Given the description of an element on the screen output the (x, y) to click on. 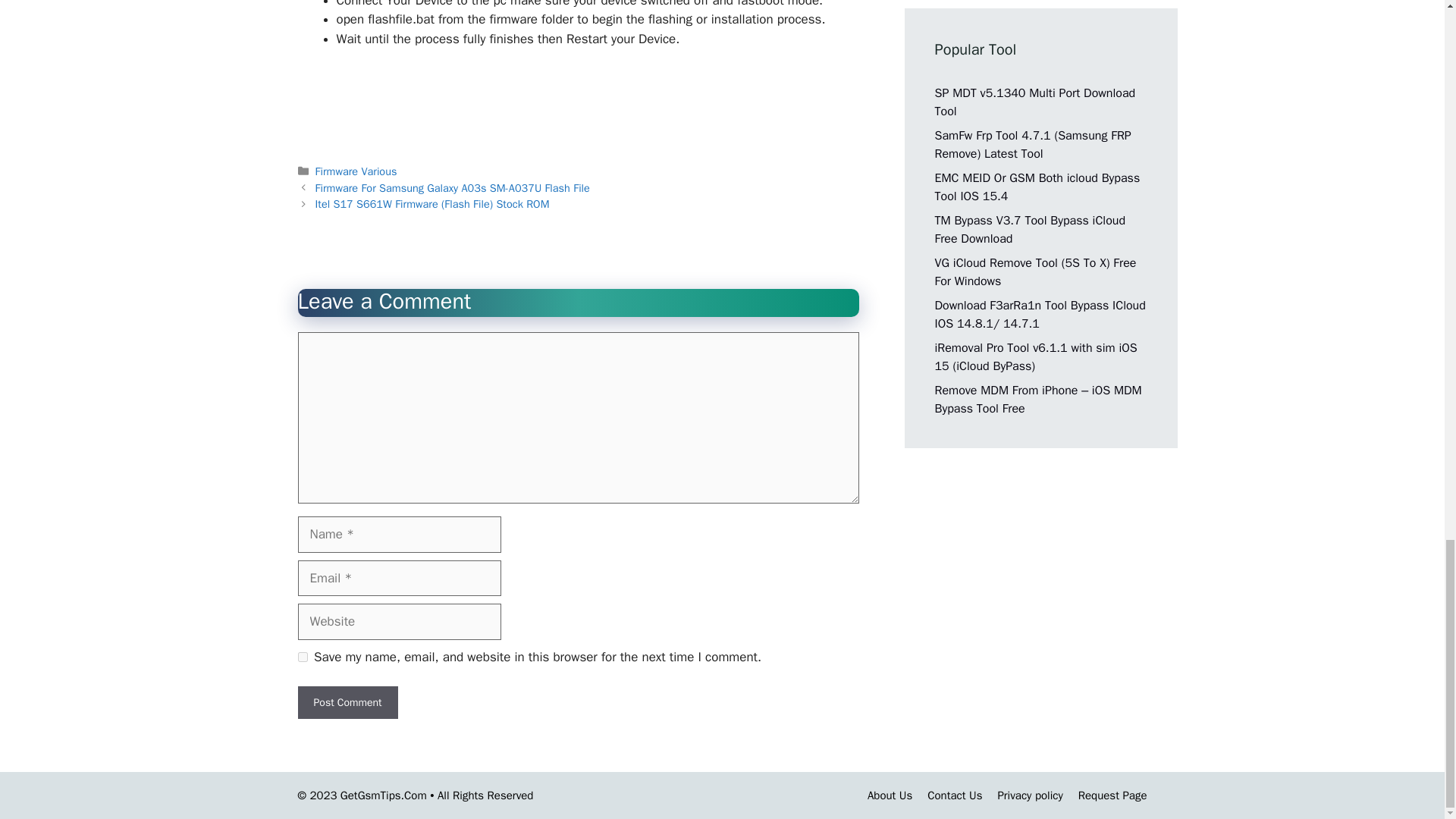
Firmware Various (356, 171)
Privacy policy (1029, 795)
Post Comment (347, 702)
yes (302, 656)
About Us (889, 795)
Advertisement (577, 101)
Firmware For Samsung Galaxy A03s SM-A037U Flash File (452, 187)
Post Comment (347, 702)
Contact Us (954, 795)
